Given the description of an element on the screen output the (x, y) to click on. 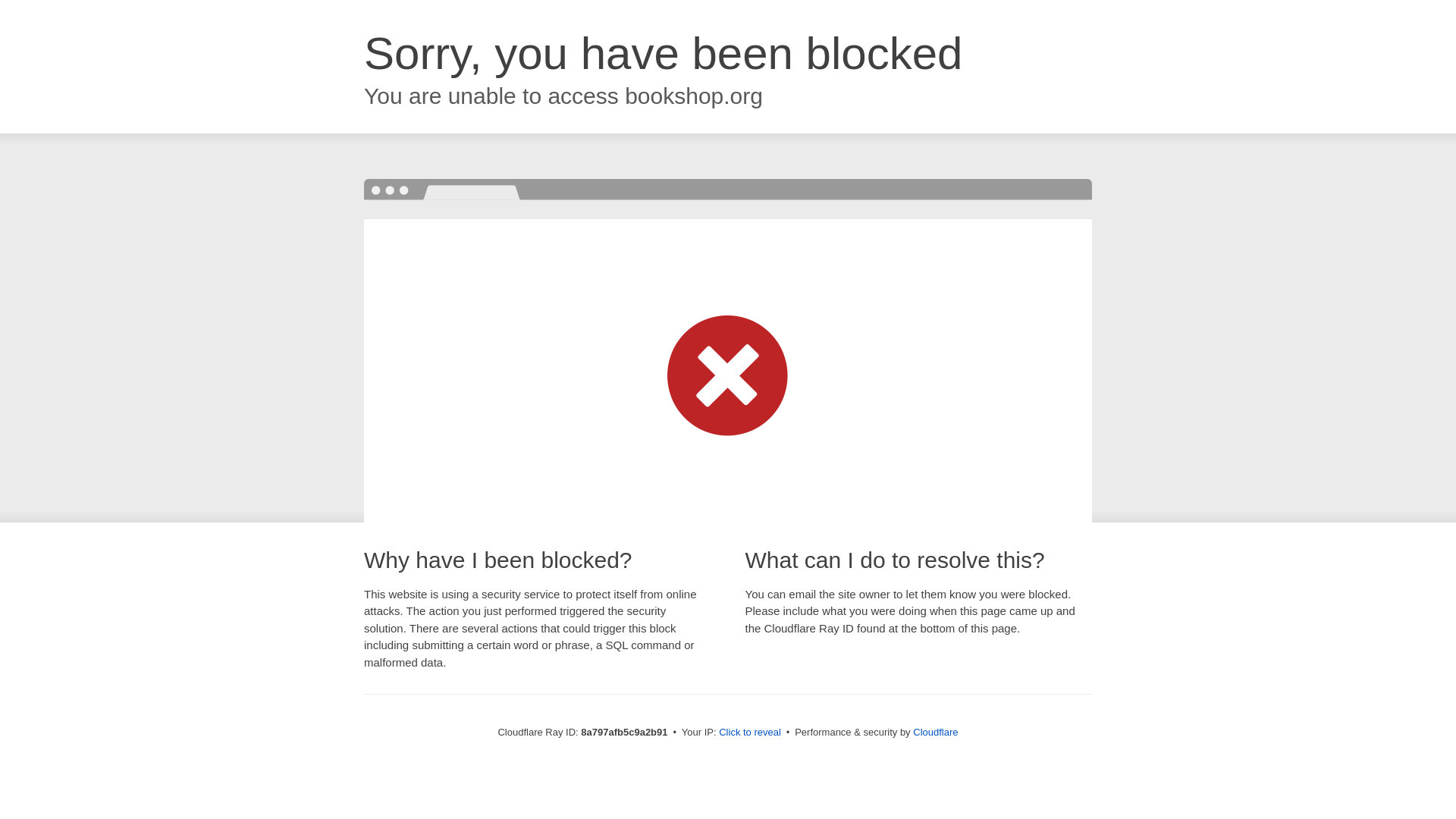
Click to reveal (749, 732)
Cloudflare (935, 731)
